Given the description of an element on the screen output the (x, y) to click on. 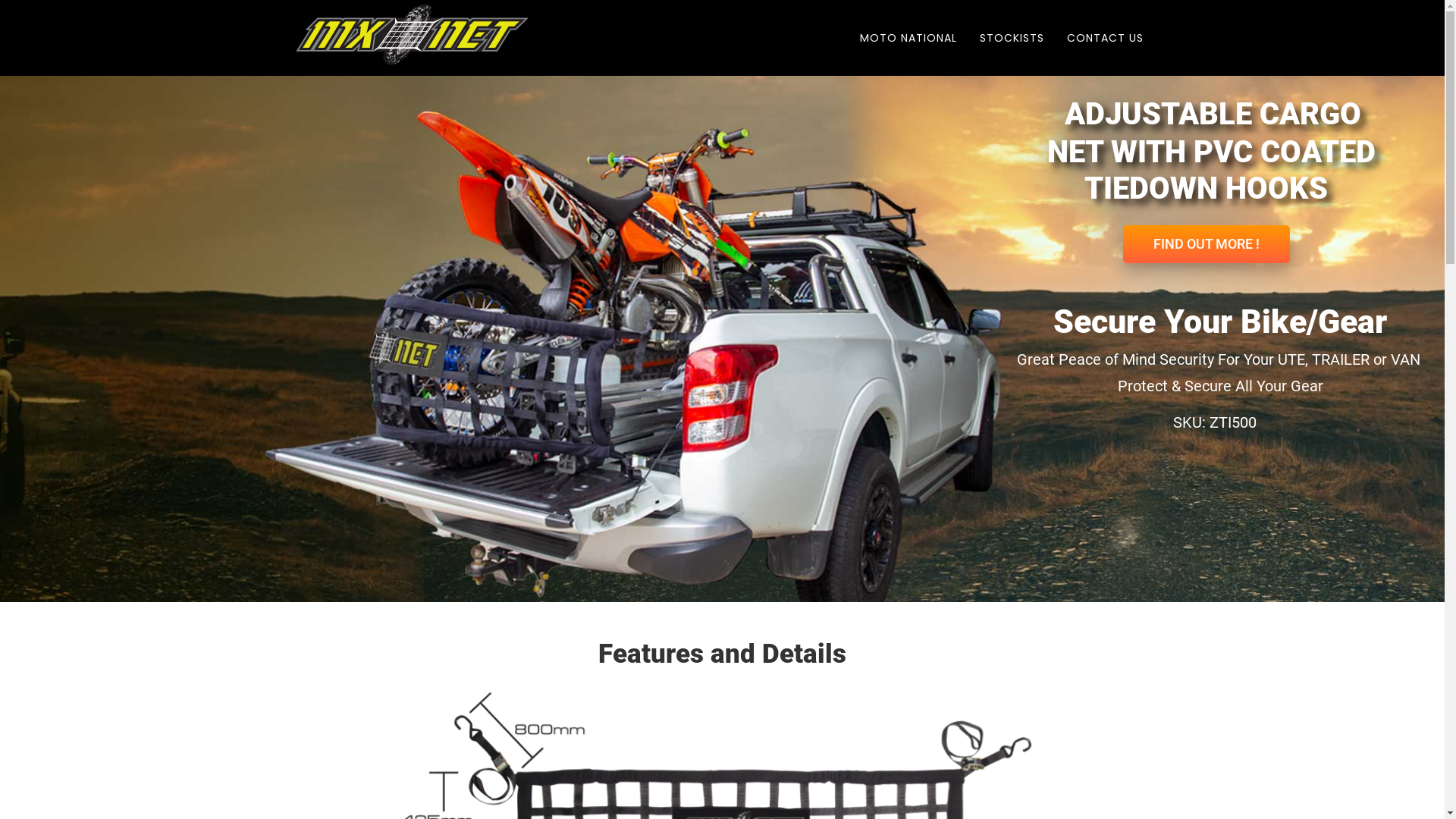
STOCKISTS Element type: text (1010, 37)
MOTO NATIONAL Element type: text (907, 37)
CONTACT US Element type: text (1104, 37)
